Given the description of an element on the screen output the (x, y) to click on. 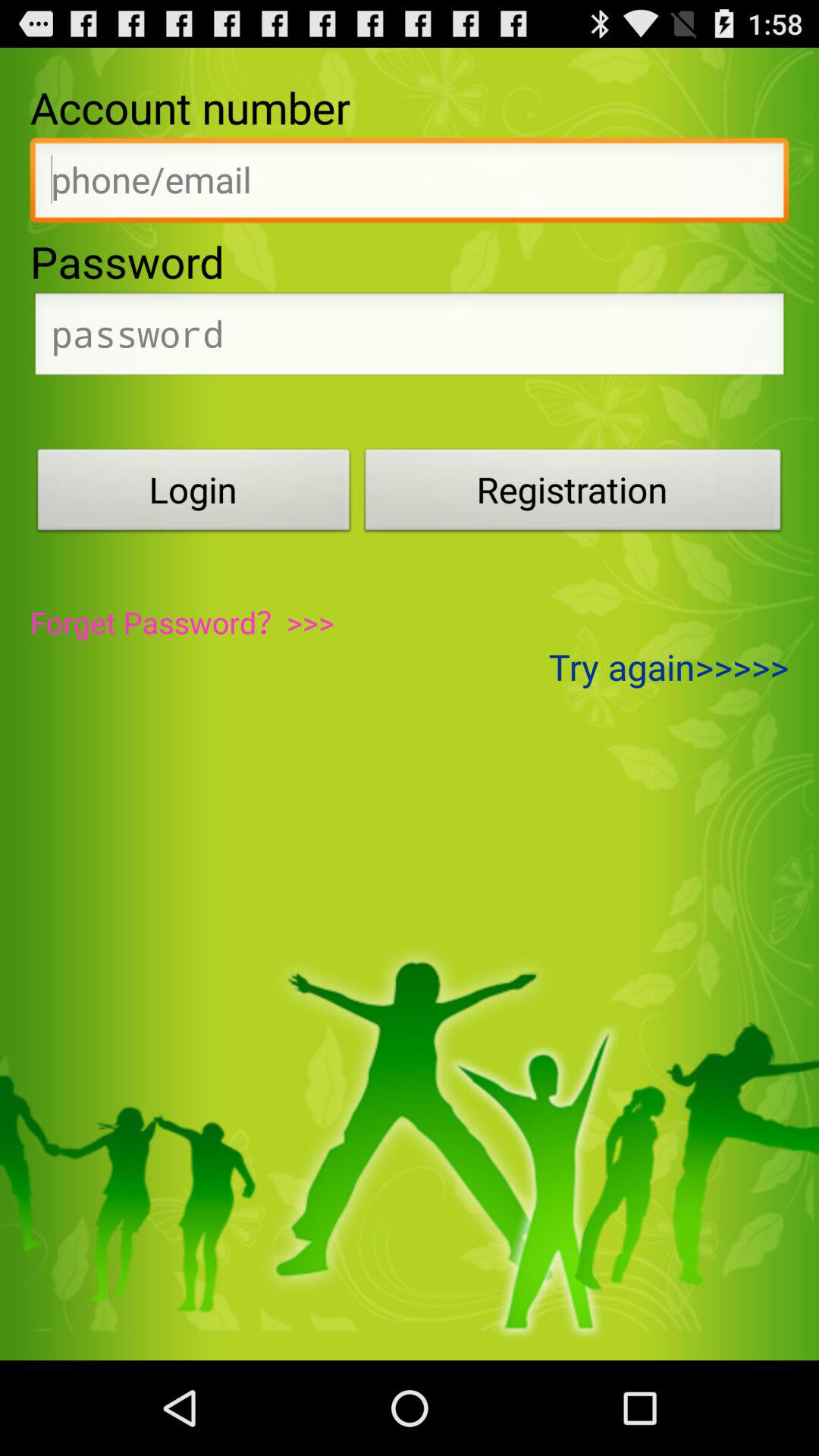
flip to login item (193, 494)
